Given the description of an element on the screen output the (x, y) to click on. 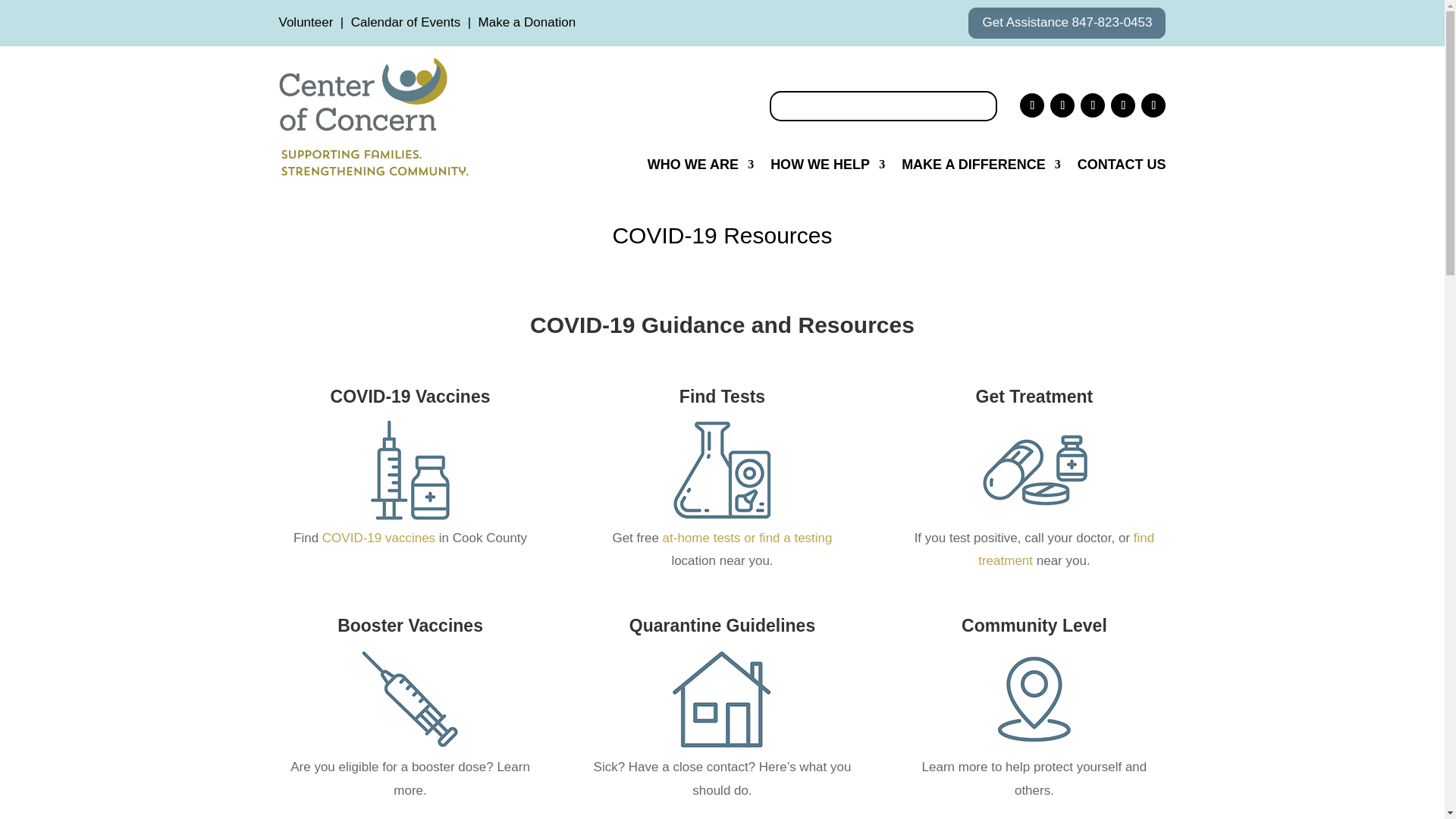
MAKE A DIFFERENCE (981, 167)
Make a Donation (527, 22)
covid icon treatment (1033, 470)
Get Assistance 847-823-0453 (1067, 22)
Follow on X (1122, 105)
Follow on Youtube (1153, 105)
Calendar of Events (405, 22)
covid icon vaccines (410, 698)
WHO WE ARE (700, 167)
covid icon community level (1033, 698)
Follow on Facebook (1031, 105)
Follow on Instagram (1061, 105)
covid icon booster (410, 470)
Volunteer (306, 22)
covid icon test (721, 470)
